Given the description of an element on the screen output the (x, y) to click on. 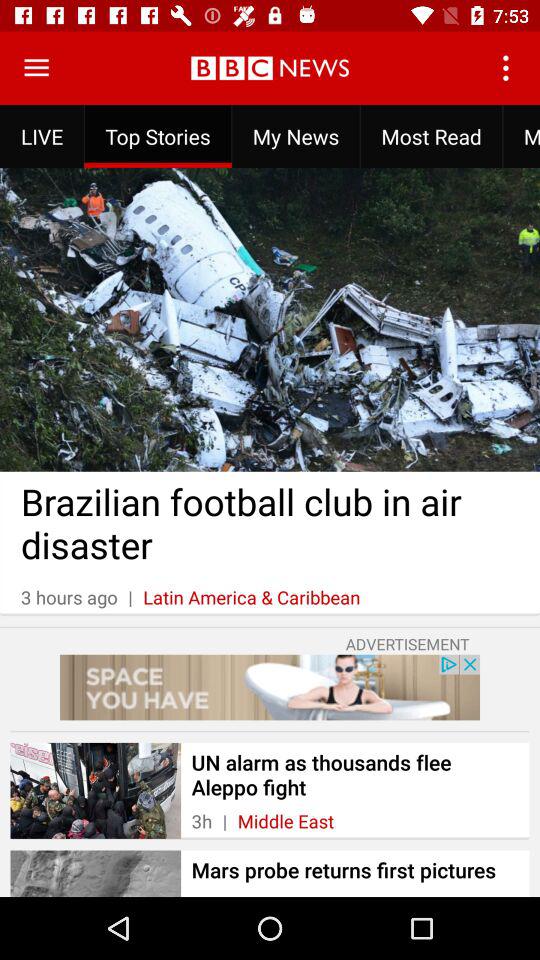
open advertisement (270, 687)
